Given the description of an element on the screen output the (x, y) to click on. 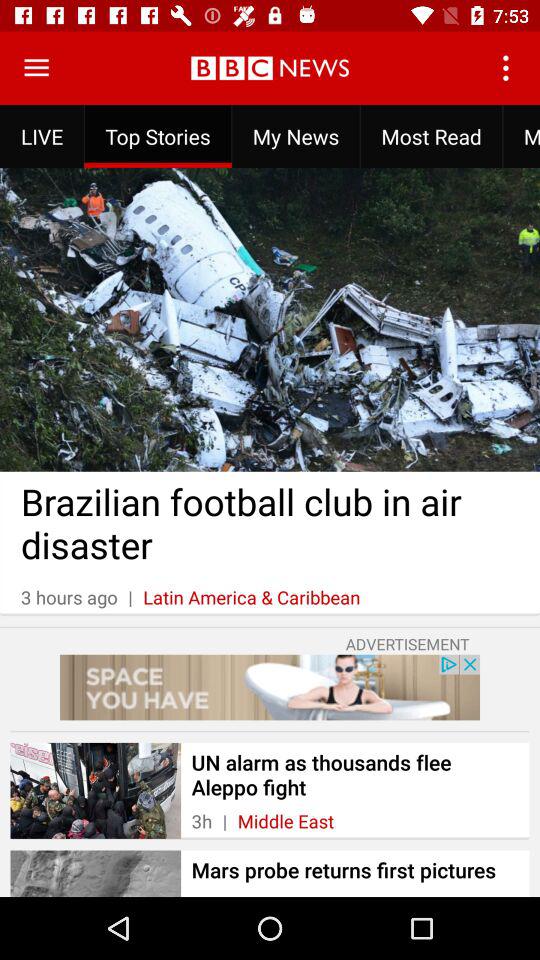
open advertisement (270, 687)
